Given the description of an element on the screen output the (x, y) to click on. 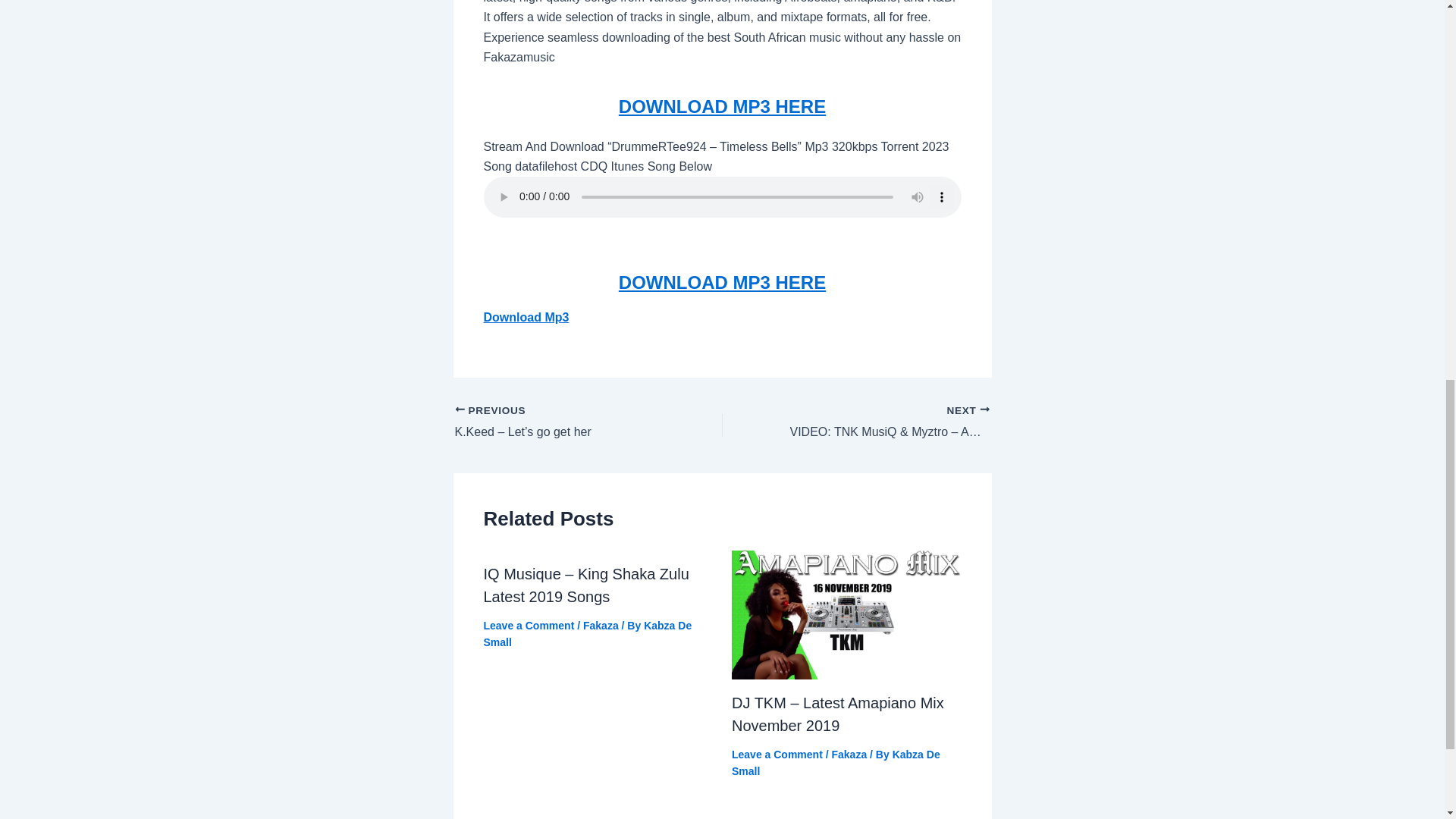
View all posts by Kabza De Small (588, 633)
Fakaza (848, 754)
Kabza De Small (836, 762)
DOWNLOAD MP3 HERE (721, 281)
Fakaza (600, 625)
Kabza De Small (588, 633)
Leave a Comment (777, 754)
DOWNLOAD MP3 HERE (721, 106)
Leave a Comment (529, 625)
View all posts by Kabza De Small (836, 762)
Download Mp3 (526, 317)
